Given the description of an element on the screen output the (x, y) to click on. 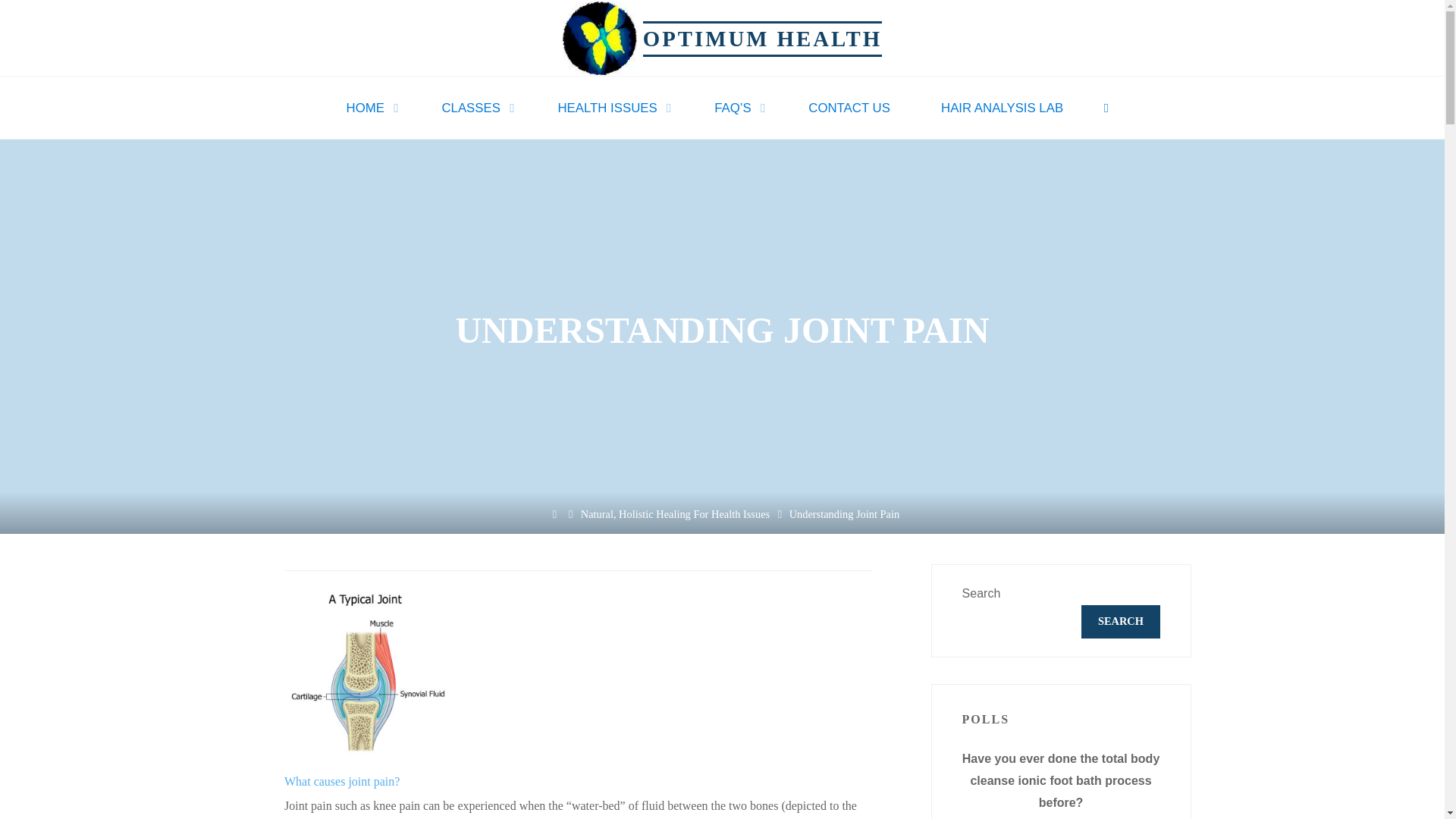
We Help You Feel Good (762, 38)
OPTIMUM HEALTH (762, 38)
Home (554, 513)
Optimum Health (599, 36)
